Given the description of an element on the screen output the (x, y) to click on. 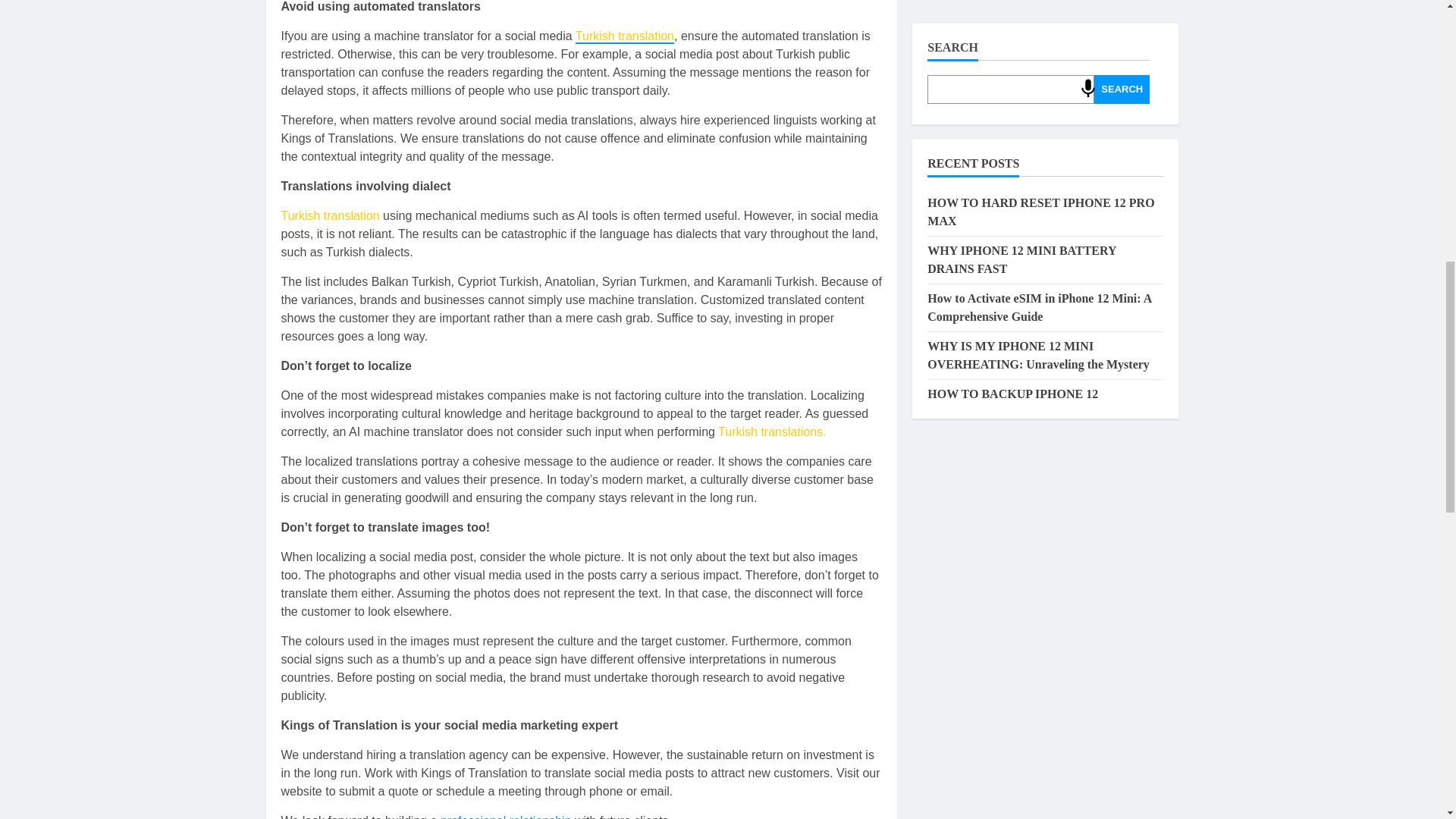
Turkish translation (624, 36)
professional relationship (506, 816)
